Given the description of an element on the screen output the (x, y) to click on. 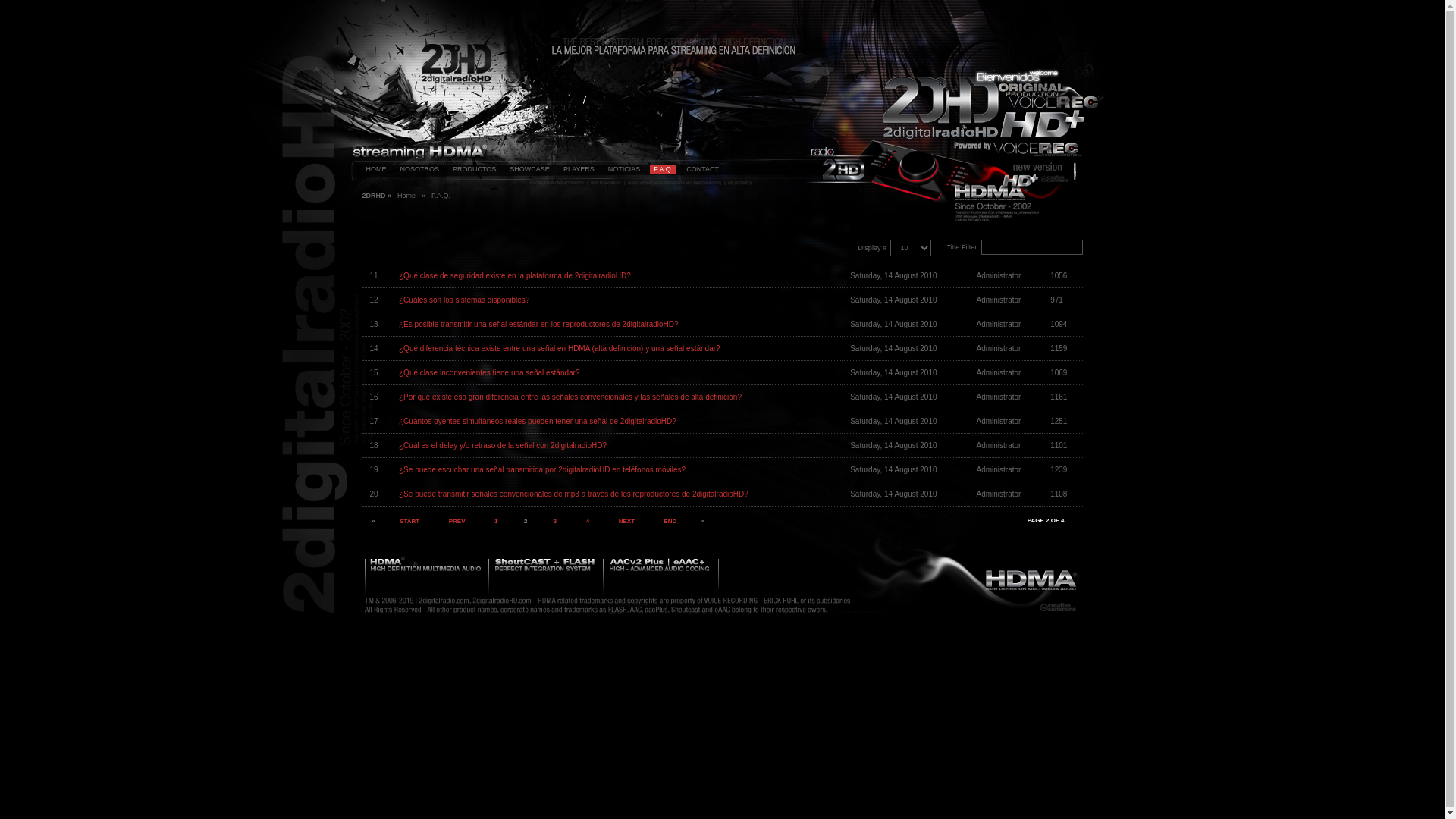
SHOWCASE Element type: text (529, 169)
1 Element type: text (495, 520)
END Element type: text (670, 520)
3 Element type: text (554, 520)
4 Element type: text (587, 520)
PLAYERS Element type: text (578, 169)
PREV Element type: text (456, 520)
PRODUCTOS Element type: text (473, 169)
F.A.Q. Element type: text (662, 169)
Home Element type: text (406, 195)
CONTACT Element type: text (702, 169)
NEXT Element type: text (626, 520)
NOTICIAS Element type: text (624, 169)
START Element type: text (409, 520)
HOME Element type: text (376, 169)
NOSOTROS Element type: text (418, 169)
2DigitalRadioHD Element type: hover (432, 127)
